Given the description of an element on the screen output the (x, y) to click on. 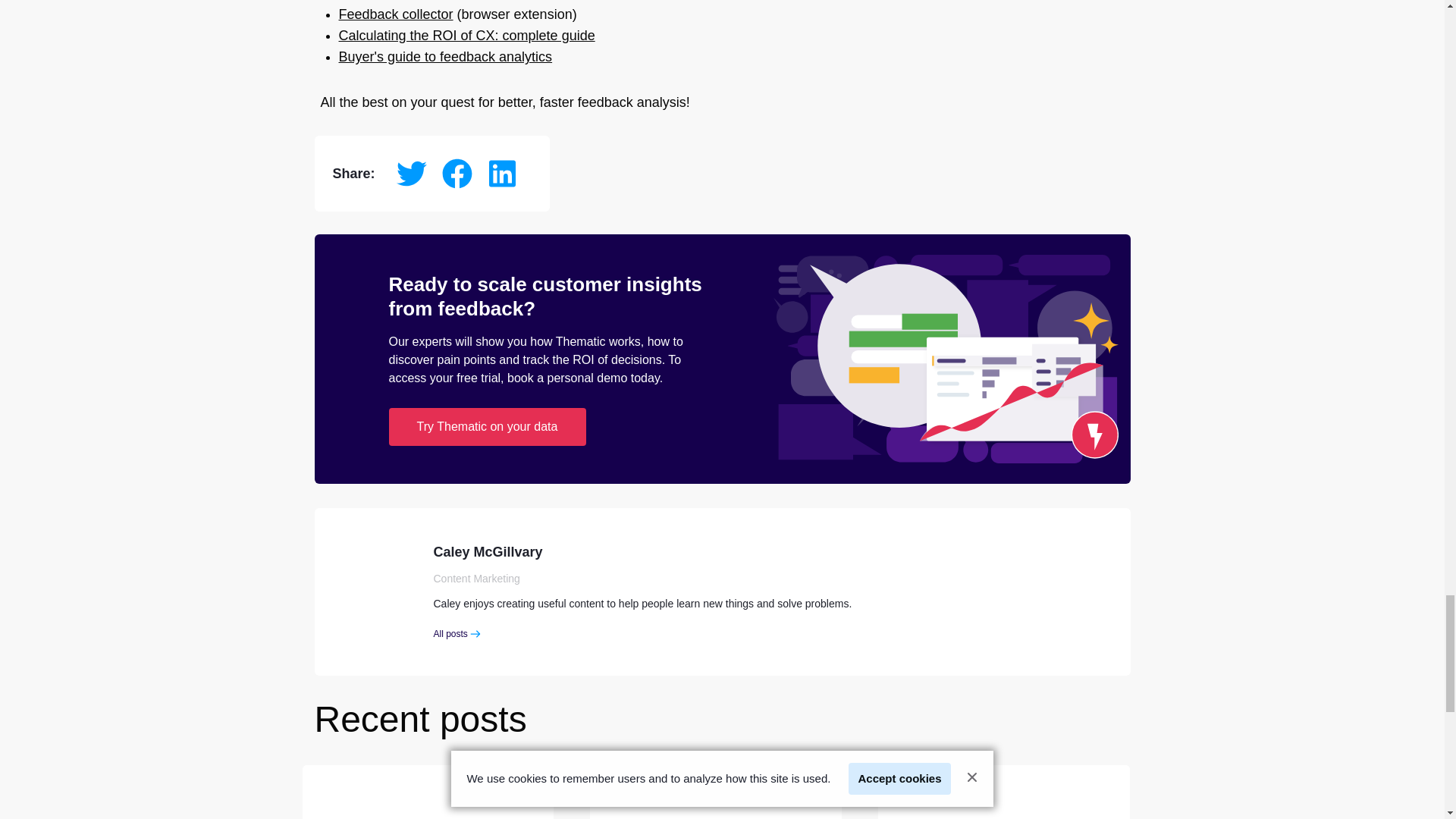
Share on LinkedIn (502, 173)
Share on Facebook (456, 173)
Share on Twitter (411, 173)
